Given the description of an element on the screen output the (x, y) to click on. 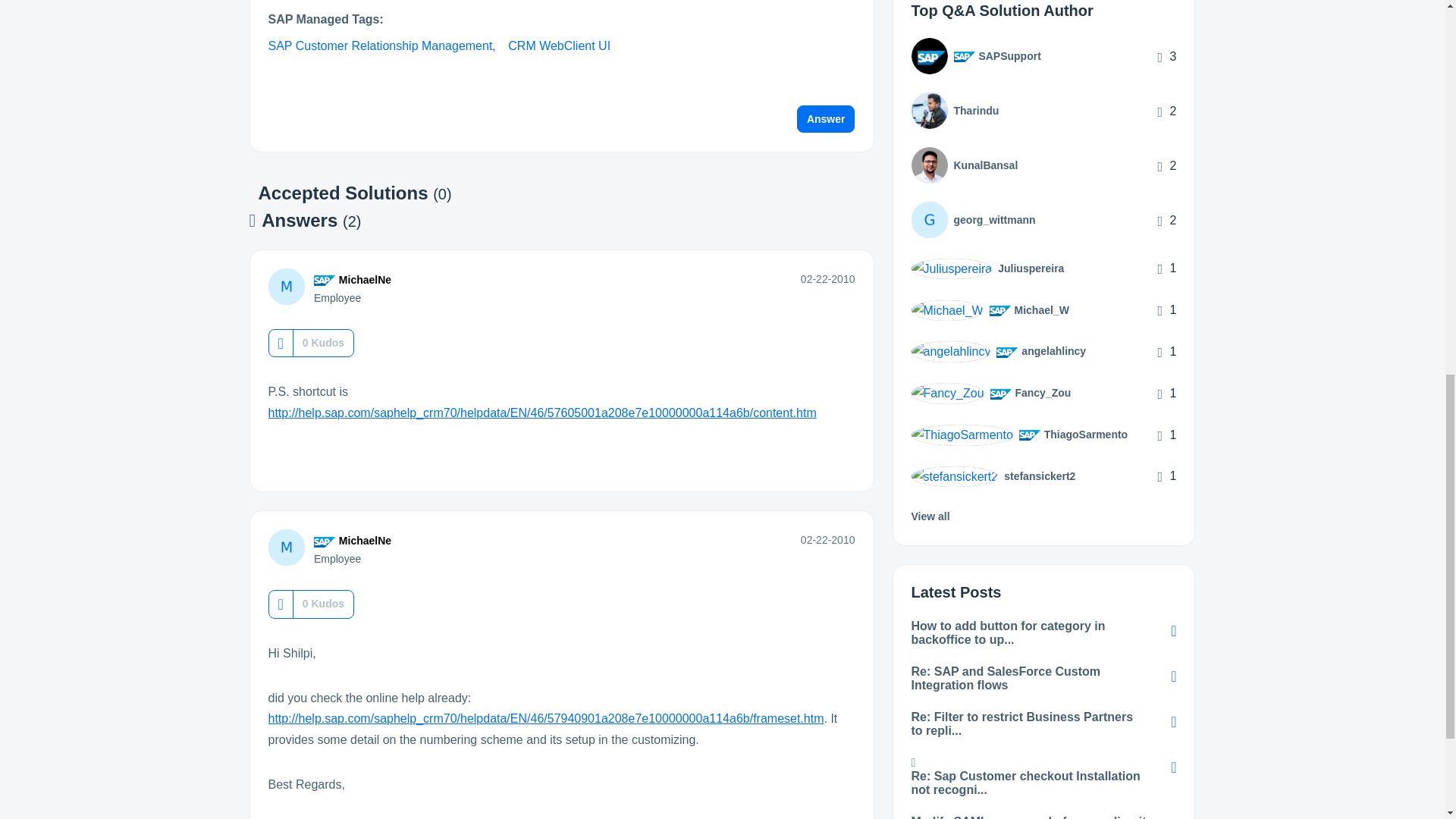
SAP Customer Relationship Management (380, 45)
MichaelNe (285, 286)
MichaelNe (365, 279)
CRM WebClient UI (559, 45)
Answer (826, 118)
Employee (325, 280)
